Given the description of an element on the screen output the (x, y) to click on. 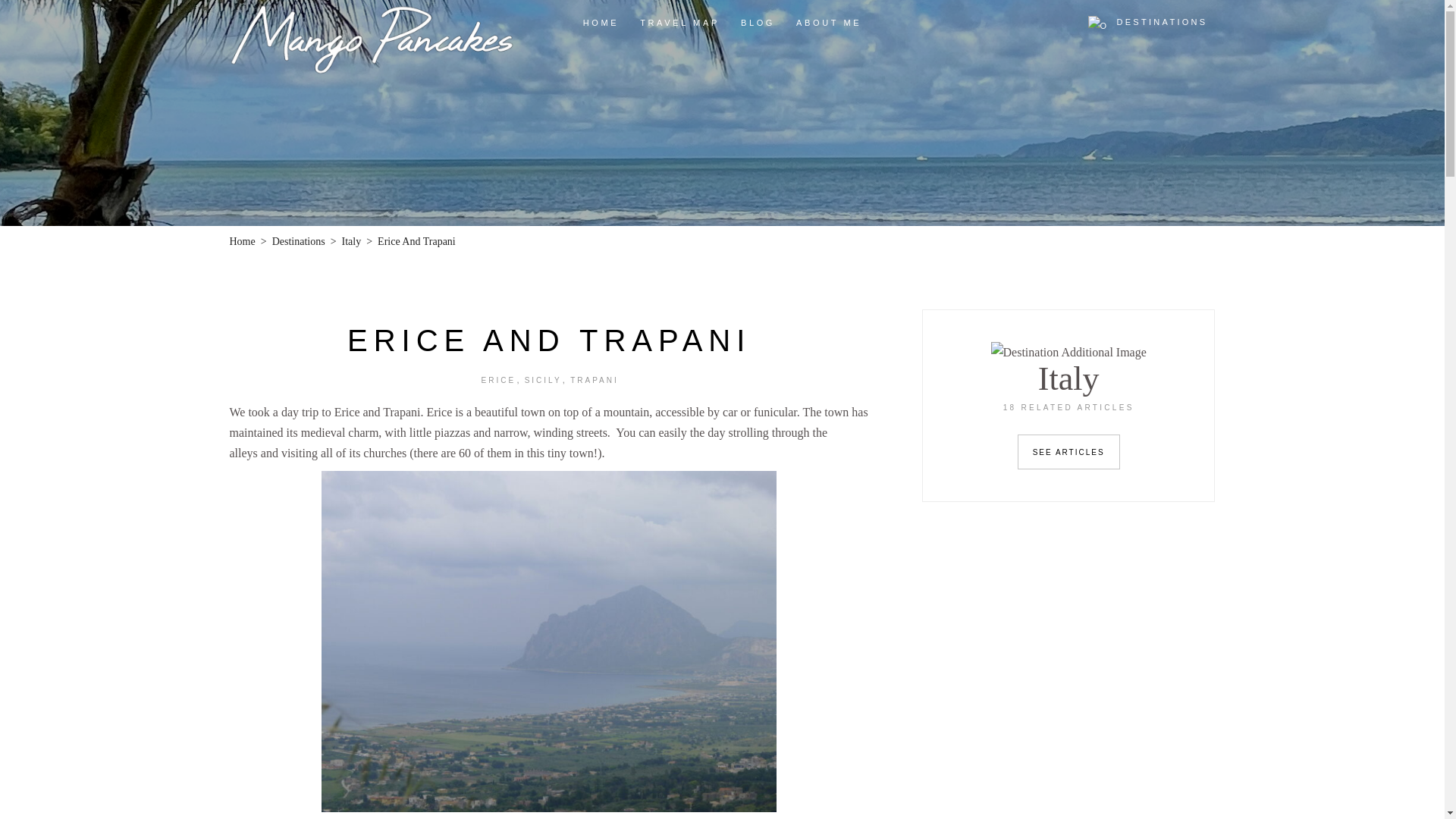
BLOG (758, 22)
DESTINATIONS (1147, 21)
HOME (601, 22)
TRAVEL MAP (679, 22)
ABOUT ME (829, 22)
